Given the description of an element on the screen output the (x, y) to click on. 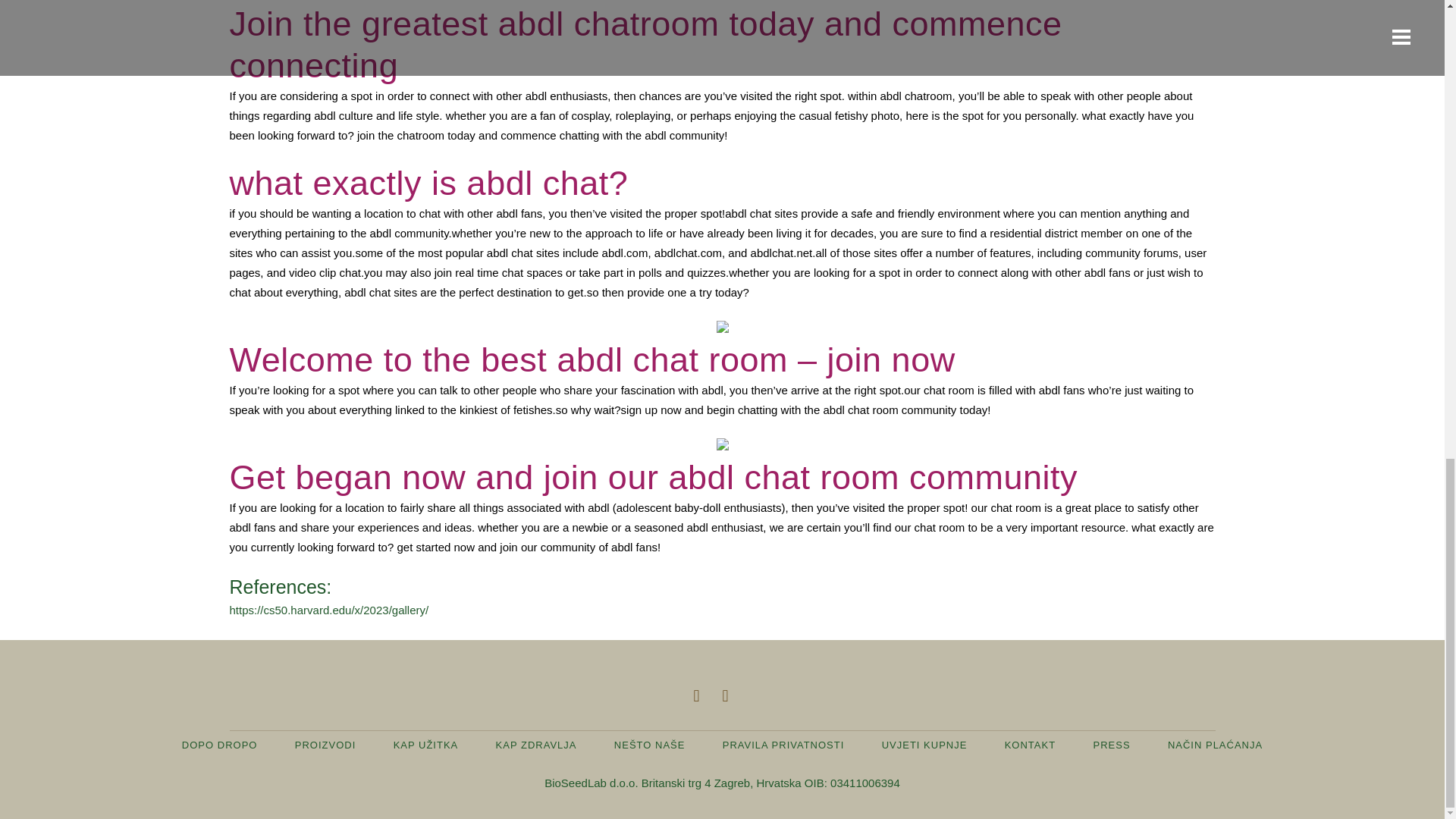
PROIZVODI (325, 745)
DOPO DROPO (219, 745)
PRESS (1111, 745)
KAP ZDRAVLJA (536, 745)
KONTAKT (1029, 745)
PRAVILA PRIVATNOSTI (783, 745)
UVJETI KUPNJE (925, 745)
